Given the description of an element on the screen output the (x, y) to click on. 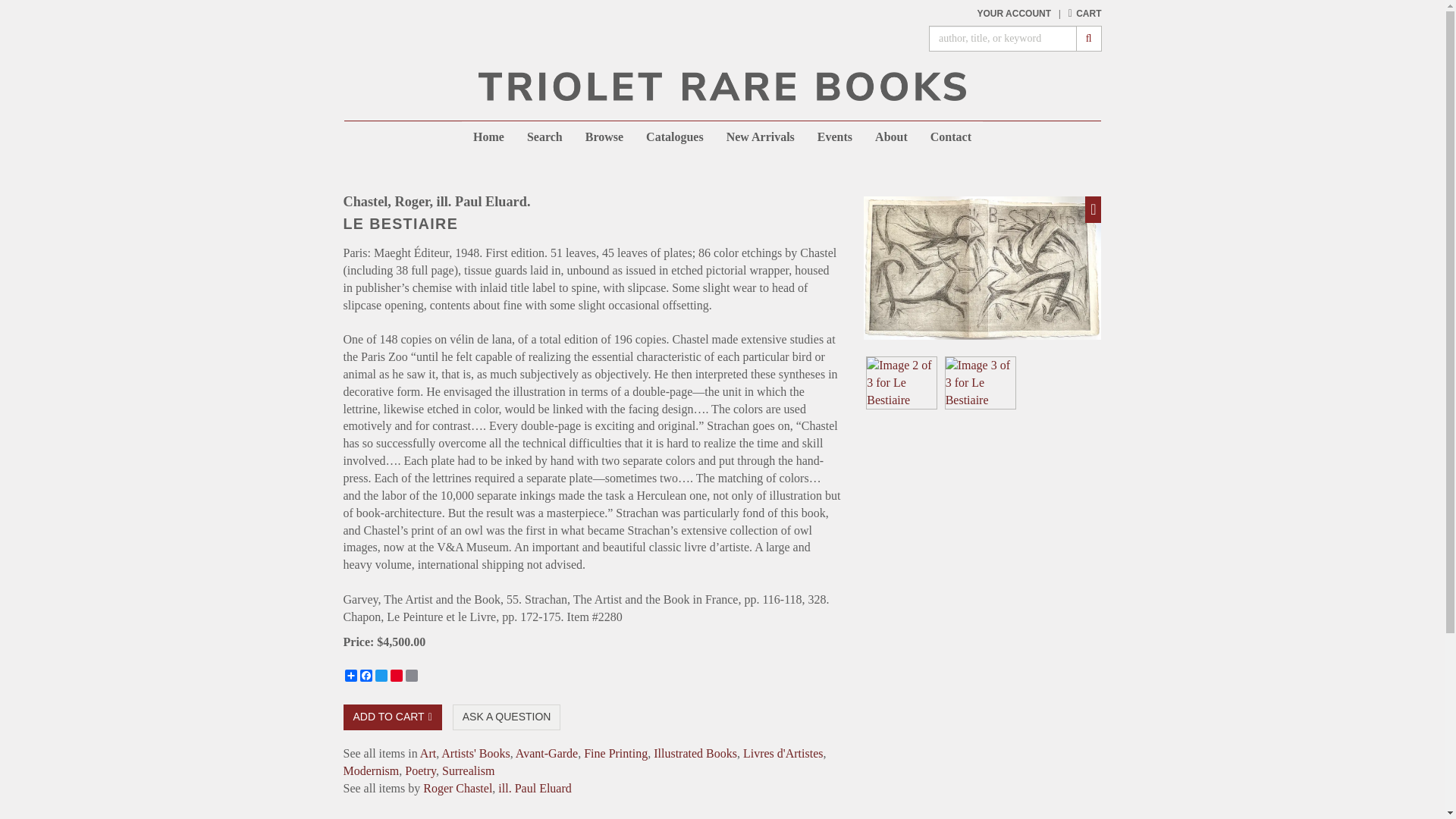
Avant-Garde (546, 753)
Le Bestiaire (980, 382)
About (890, 137)
New Arrivals (760, 137)
SUBMIT SEARCH (1088, 38)
Browse (603, 137)
Home (488, 137)
Art (427, 753)
Twitter (380, 675)
Le Bestiaire (901, 382)
